Given the description of an element on the screen output the (x, y) to click on. 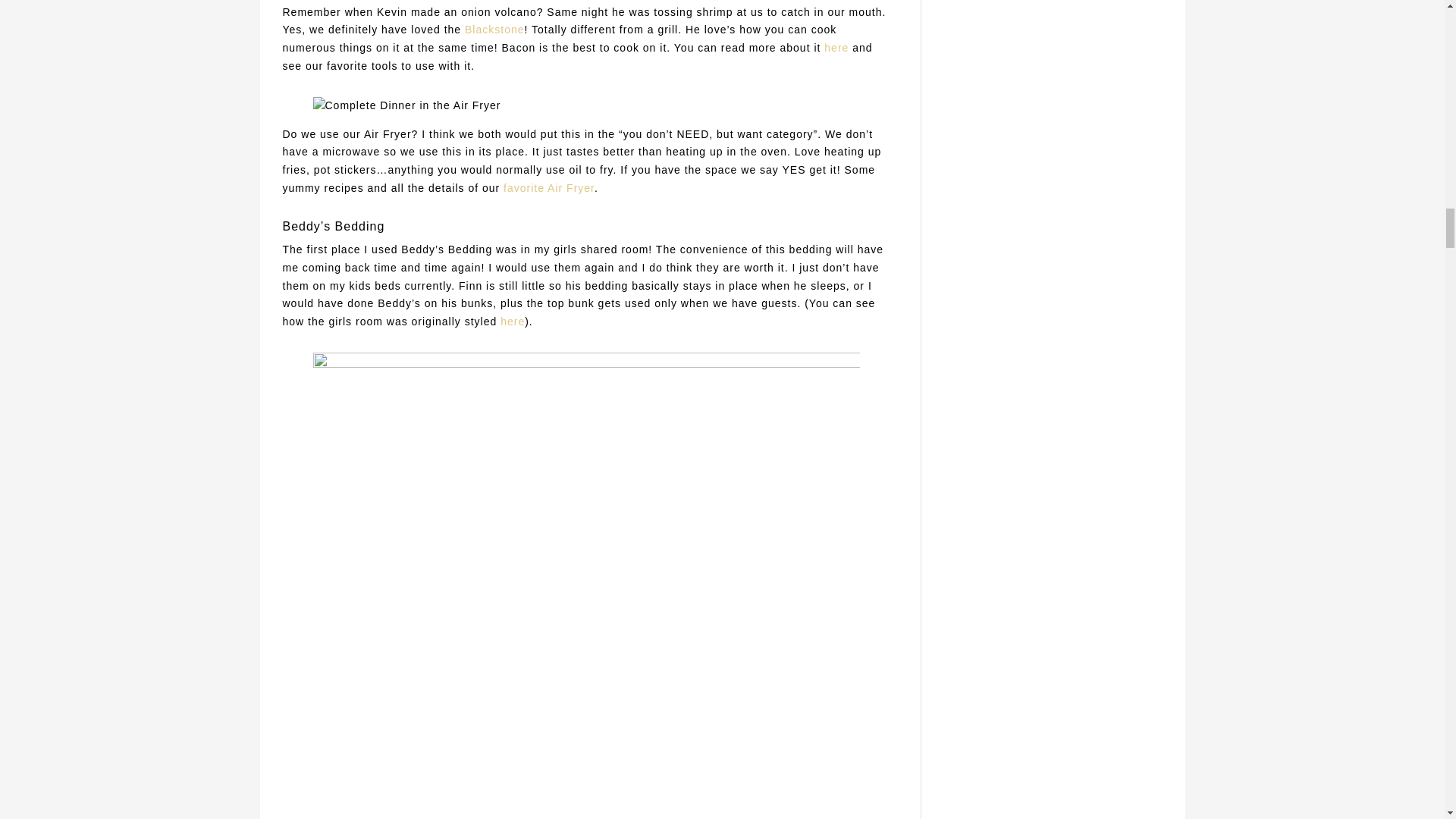
here (836, 47)
Blackstone (494, 29)
here (512, 321)
favorite Air Fryer (548, 187)
